Given the description of an element on the screen output the (x, y) to click on. 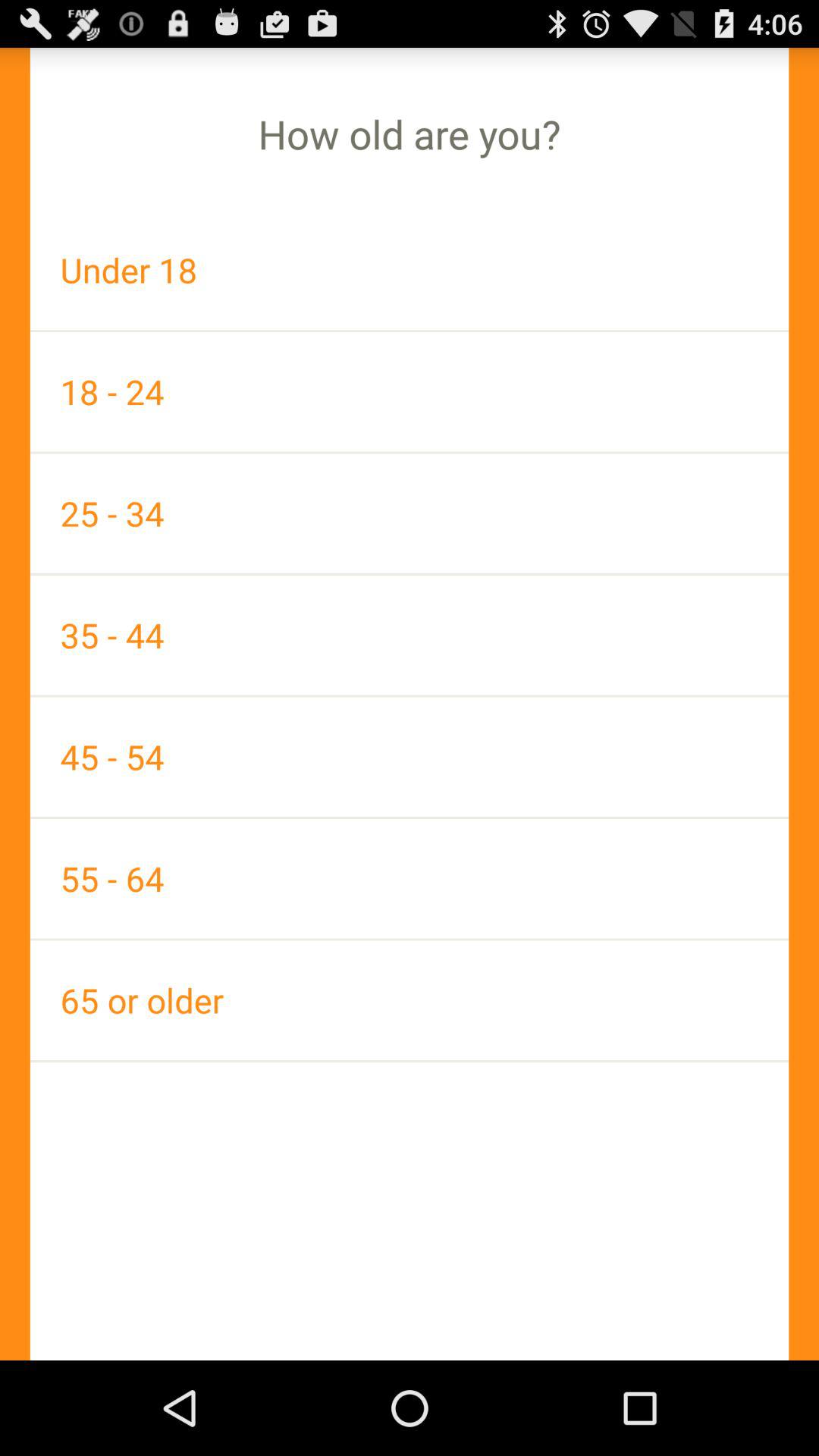
launch the app below 55 - 64 app (409, 1000)
